Given the description of an element on the screen output the (x, y) to click on. 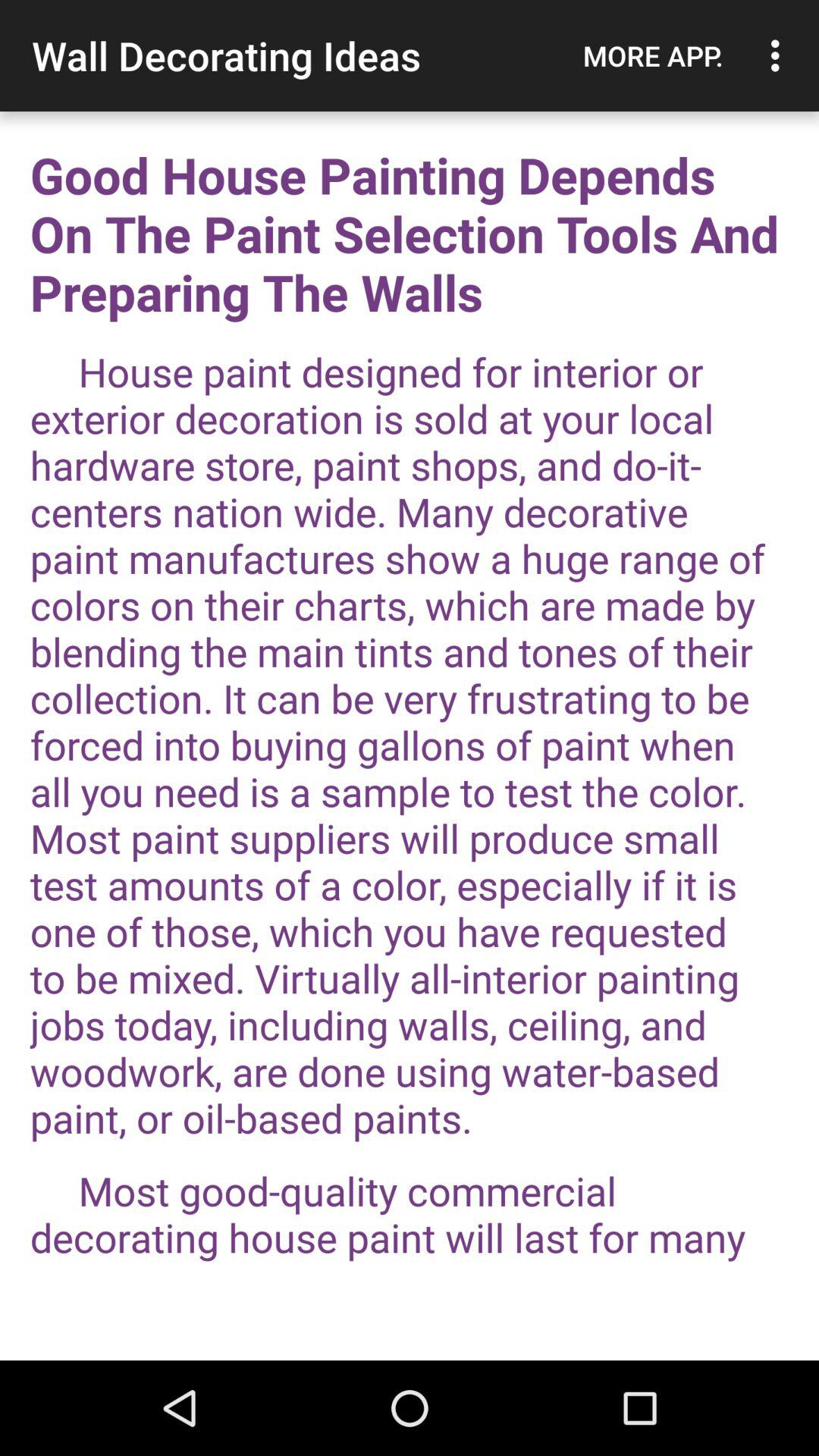
press icon above good house painting (779, 55)
